Given the description of an element on the screen output the (x, y) to click on. 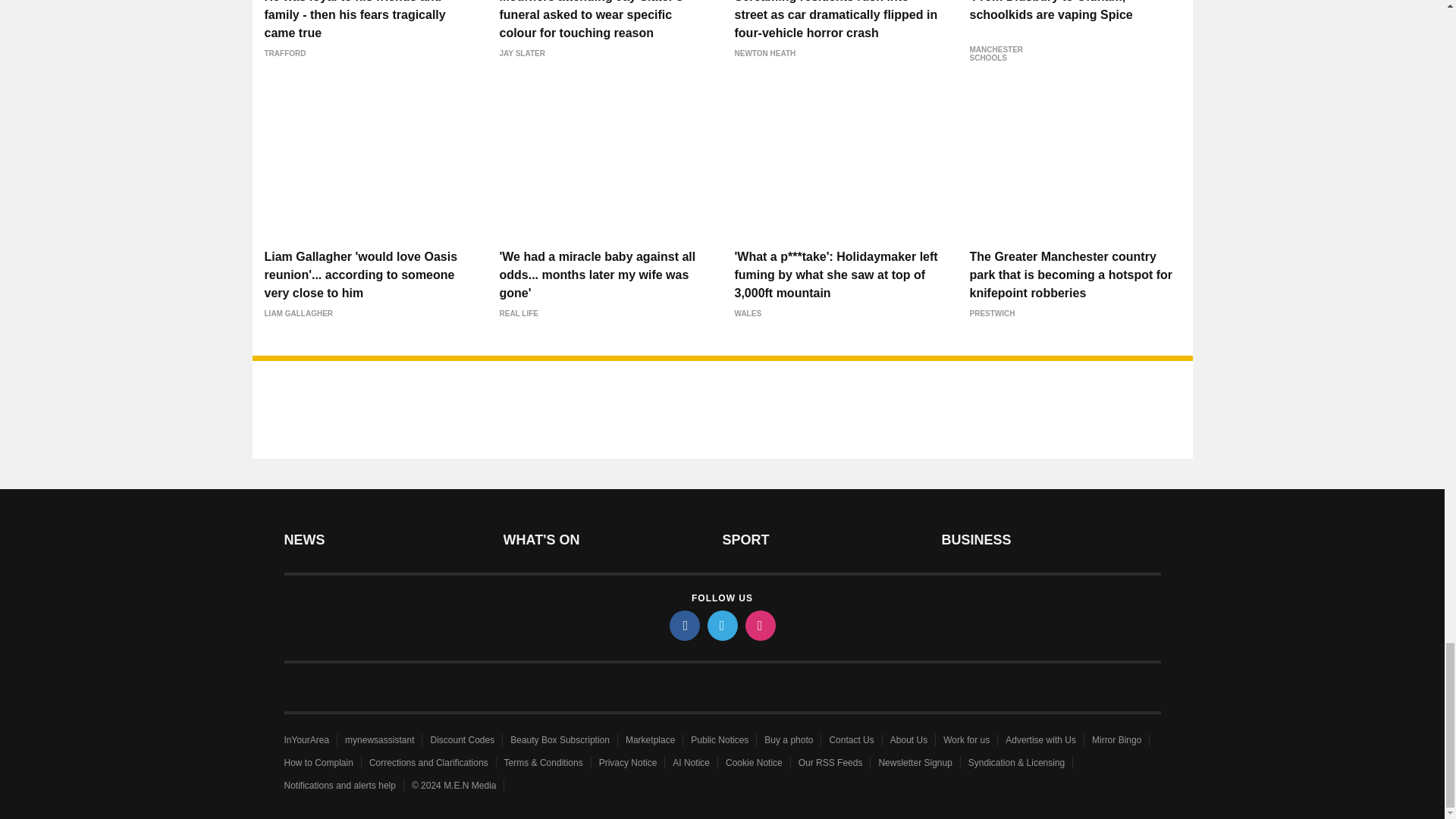
instagram (759, 625)
facebook (683, 625)
twitter (721, 625)
